Given the description of an element on the screen output the (x, y) to click on. 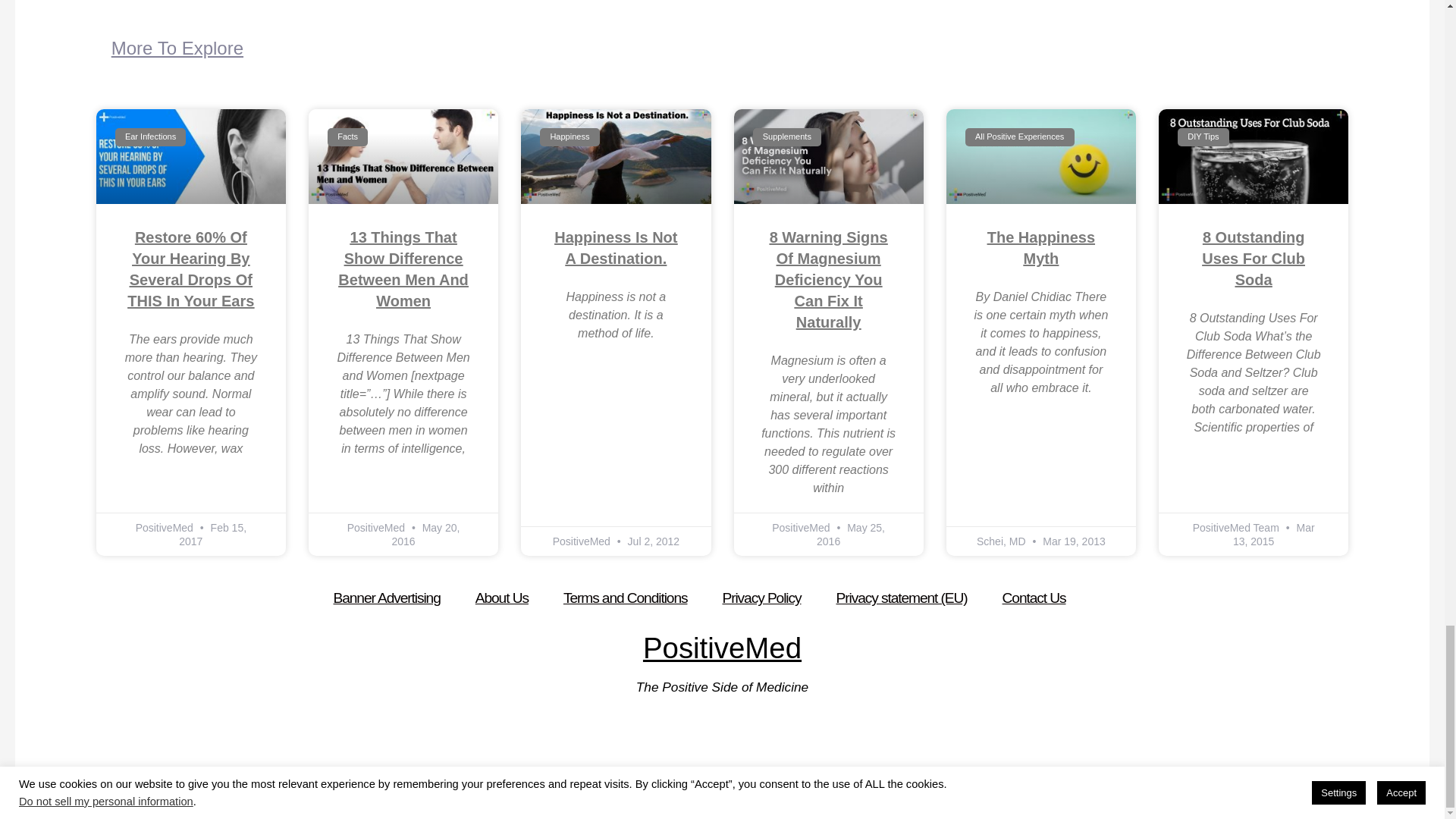
The Happiness Myth (1040, 247)
Banner Advertising (386, 598)
Privacy Policy (761, 598)
Happiness Is Not A Destination. (615, 247)
Terms and Conditions (625, 598)
13 Things That Show Difference Between Men And Women (402, 269)
8 Outstanding Uses For Club Soda (1253, 258)
Contact Us (1033, 598)
About Us (501, 598)
